Given the description of an element on the screen output the (x, y) to click on. 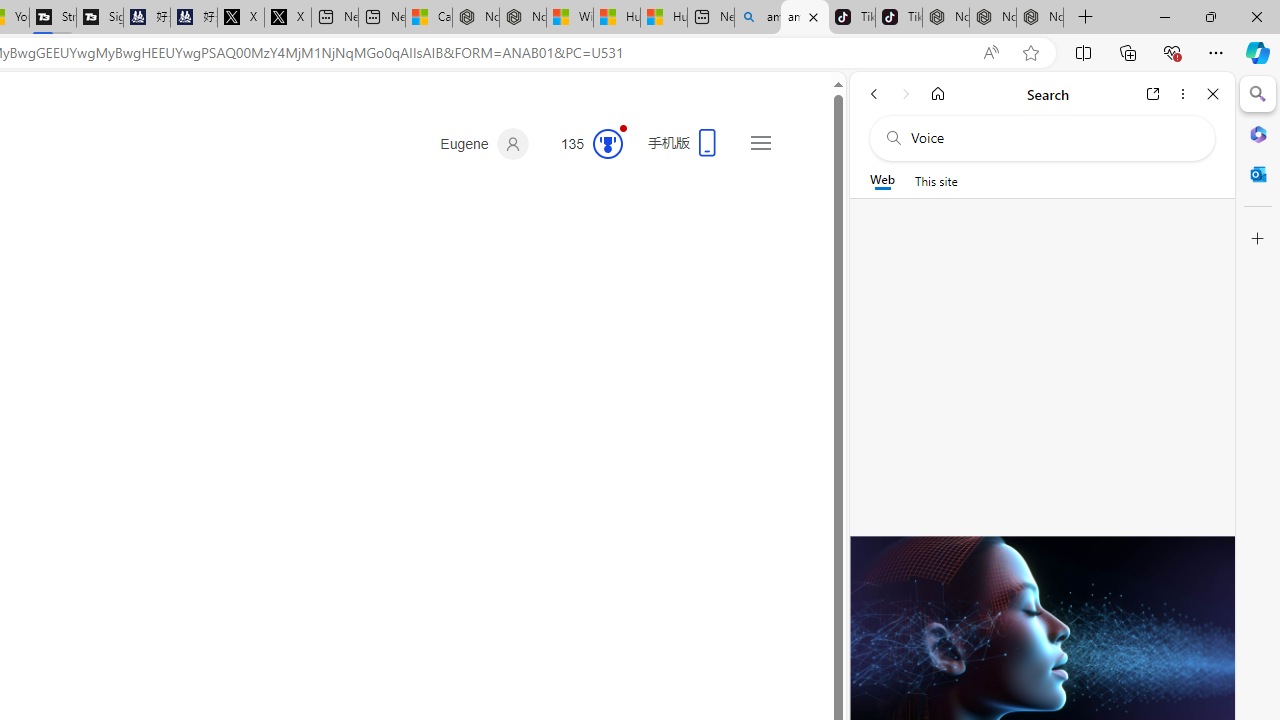
Streaming Coverage | T3 (52, 17)
Nordace - Best Sellers (945, 17)
TikTok (898, 17)
Microsoft Rewards 135 (584, 143)
Web scope (882, 180)
This site scope (936, 180)
Home (938, 93)
Open link in new tab (1153, 93)
Class: medal-circled (607, 143)
Forward (906, 93)
